Given the description of an element on the screen output the (x, y) to click on. 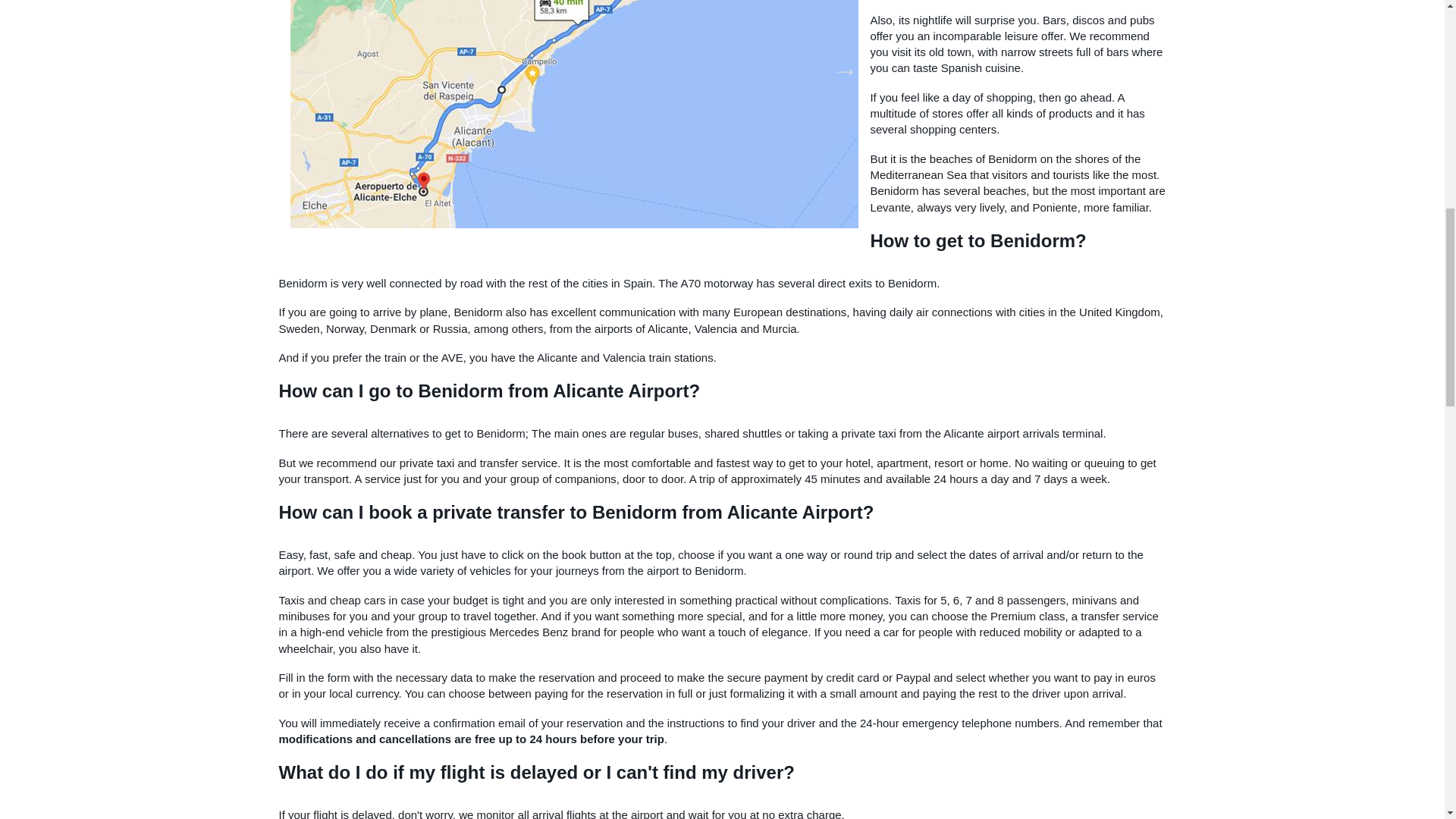
NEXT (839, 64)
PREVIOUS (298, 64)
